Given the description of an element on the screen output the (x, y) to click on. 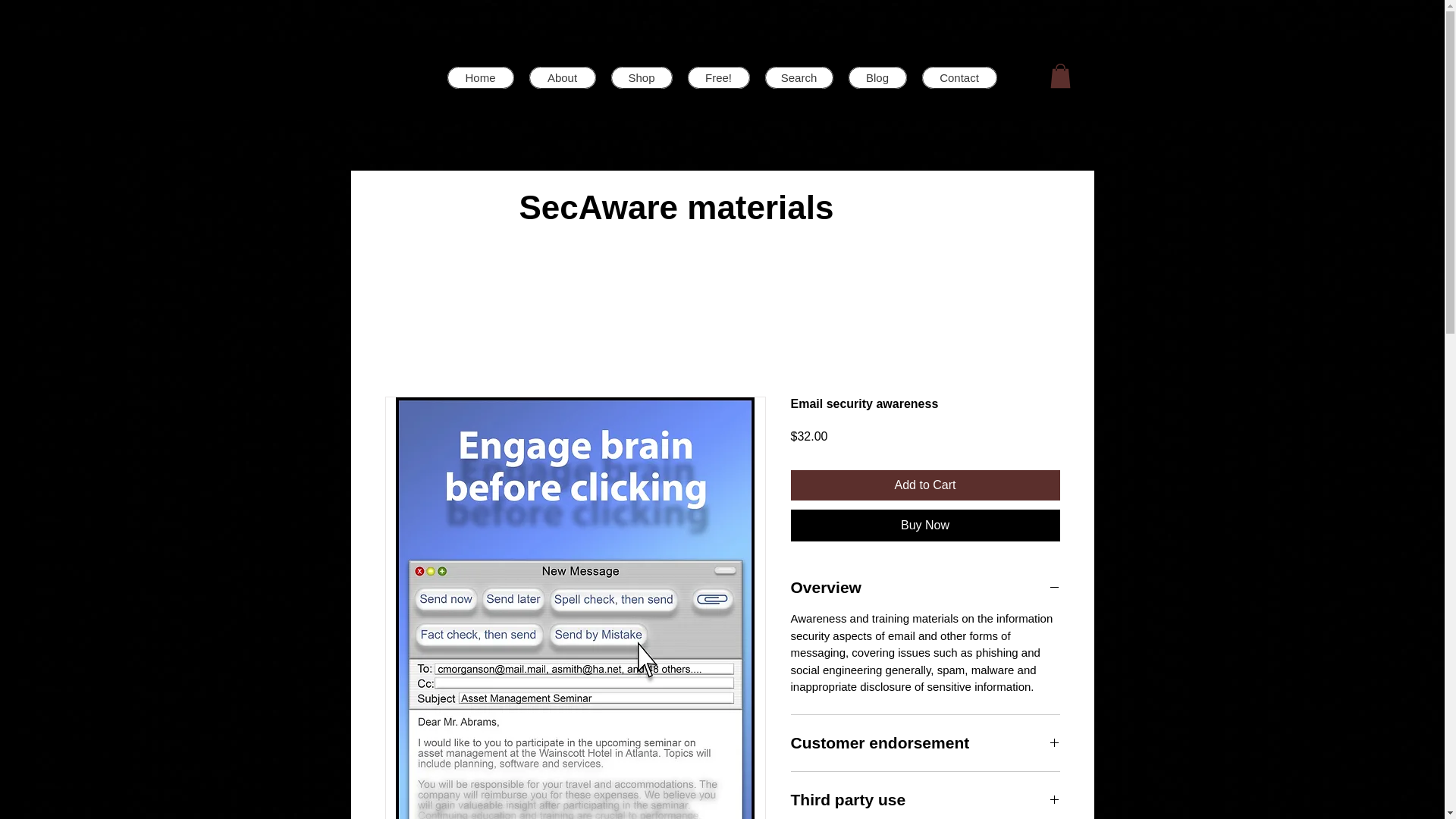
Free! (718, 77)
Customer endorsement (924, 742)
Overview (924, 587)
Shop (641, 77)
Buy Now (924, 525)
Search (798, 77)
Home (479, 77)
Third party use (924, 799)
Contact (959, 77)
About (562, 77)
